Given the description of an element on the screen output the (x, y) to click on. 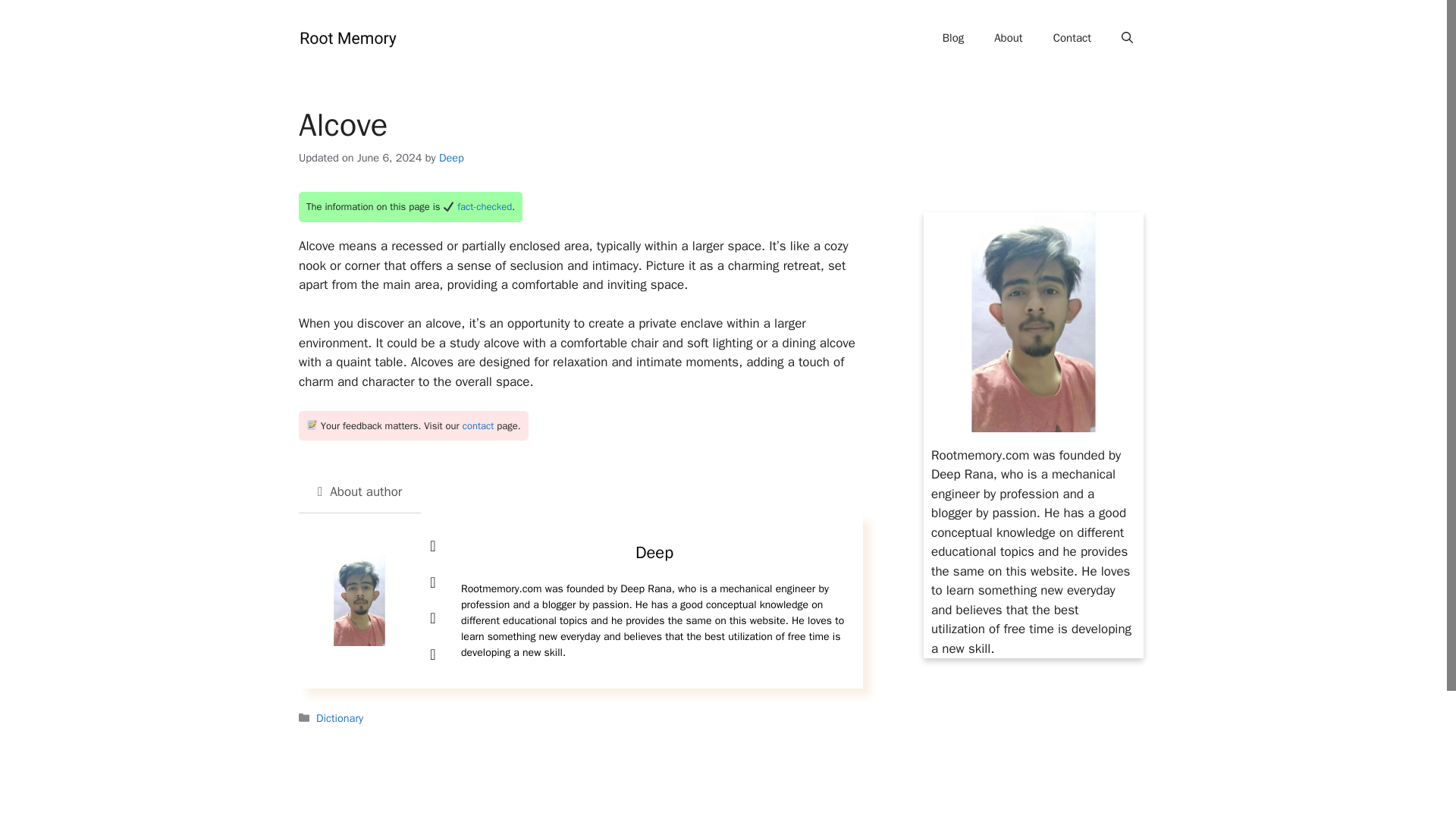
Blog (952, 37)
Contact (1072, 37)
Dictionary (338, 717)
Deep (451, 157)
fact-checked (484, 205)
View all posts by Deep (451, 157)
About (1007, 37)
contact (479, 425)
